Given the description of an element on the screen output the (x, y) to click on. 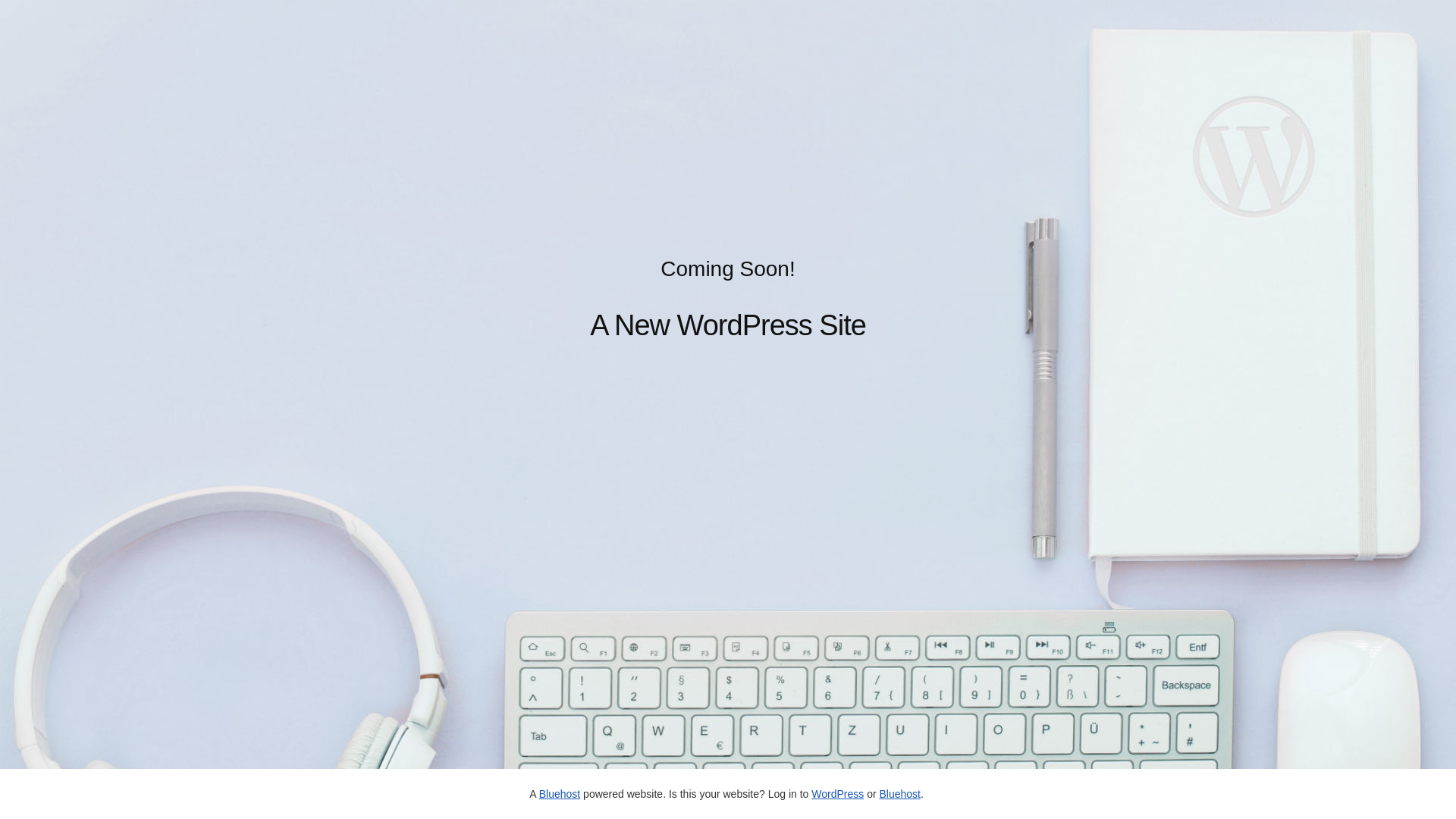
Bluehost Element type: text (898, 793)
WordPress Element type: text (837, 793)
Bluehost Element type: text (559, 793)
